Given the description of an element on the screen output the (x, y) to click on. 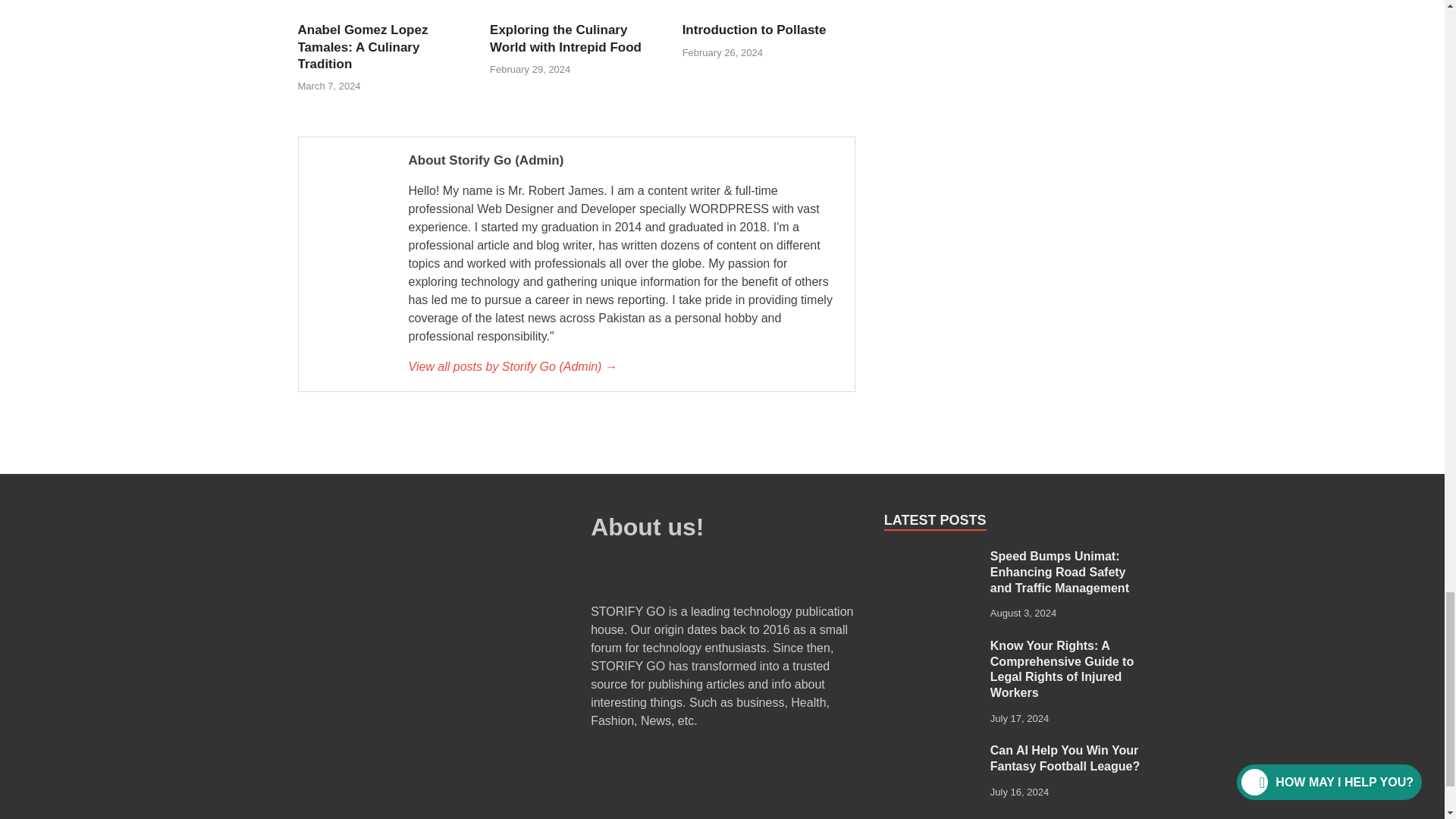
Exploring the Culinary World with Intrepid Food (575, 11)
Anabel Gomez Lopez Tamales (383, 4)
intrepidfood.eu (575, 4)
Anabel Gomez Lopez Tamales: A Culinary Tradition (383, 11)
Exploring the Culinary World with Intrepid Food (565, 38)
Introduction to Pollaste (769, 11)
Anabel Gomez Lopez Tamales: A Culinary Tradition (362, 46)
Introduction to Pollaste (754, 29)
pollaste (769, 4)
